Given the description of an element on the screen output the (x, y) to click on. 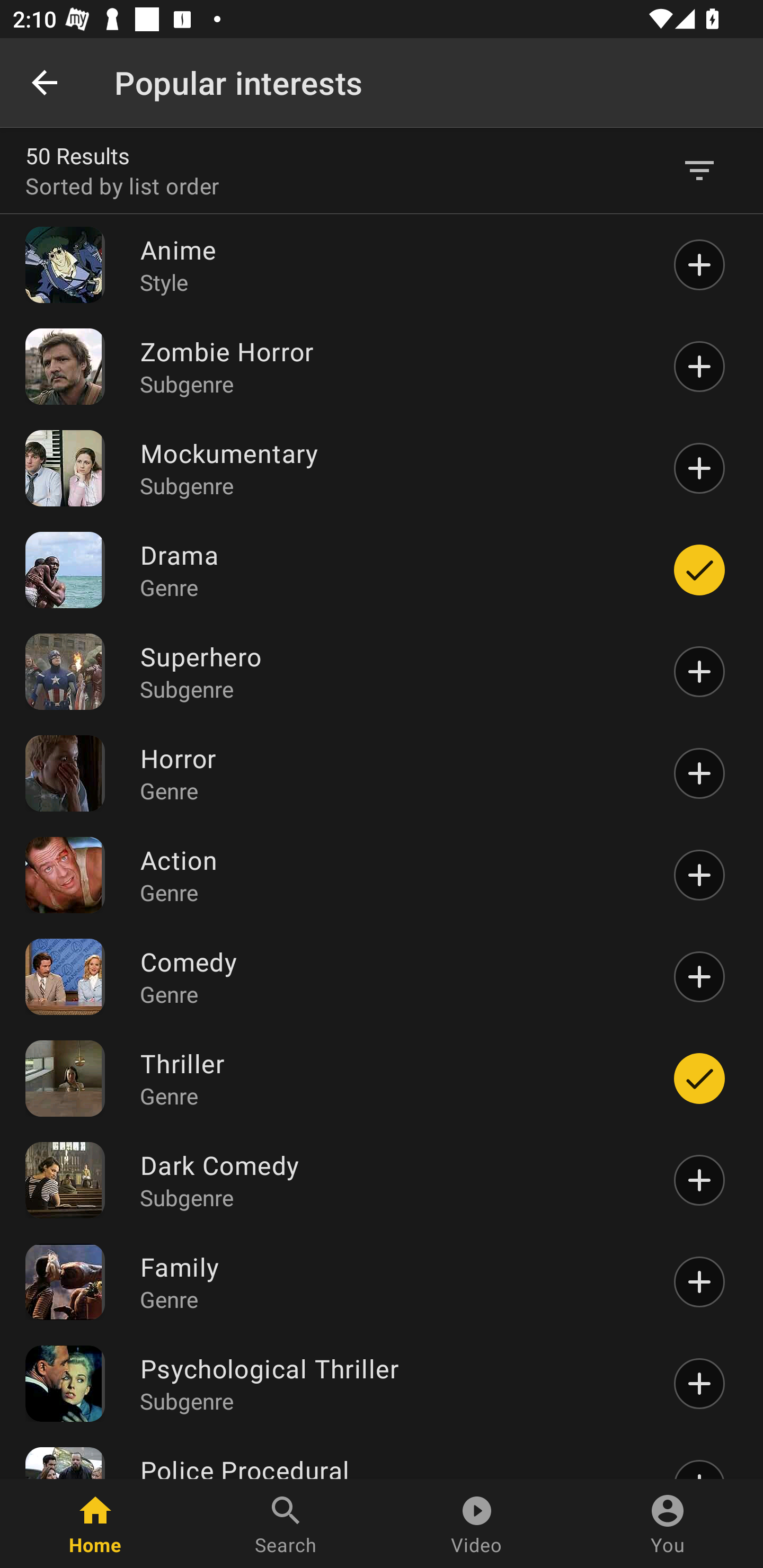
Anime Style (390, 264)
Zombie Horror Subgenre (390, 365)
Mockumentary Subgenre (390, 467)
Drama Genre (390, 569)
Superhero Subgenre (390, 671)
Horror Genre (390, 773)
Action Genre (390, 875)
Comedy Genre (390, 976)
Thriller Genre (390, 1077)
Dark Comedy Subgenre (390, 1179)
Family Genre (390, 1281)
Psychological Thriller Subgenre (390, 1383)
Search (285, 1523)
Video (476, 1523)
You (667, 1523)
